Given the description of an element on the screen output the (x, y) to click on. 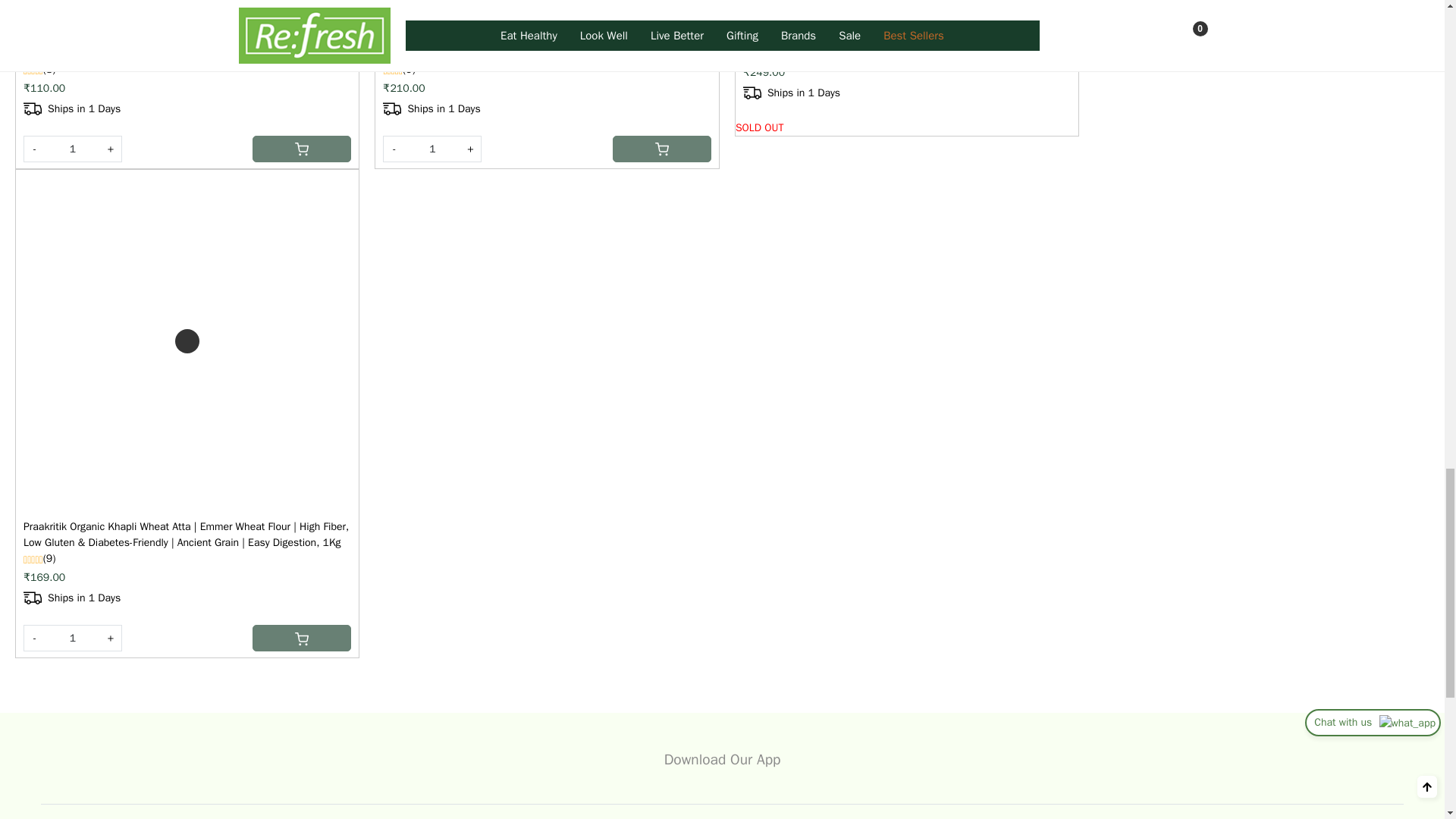
1 (72, 148)
1 (72, 637)
1 (431, 148)
